Given the description of an element on the screen output the (x, y) to click on. 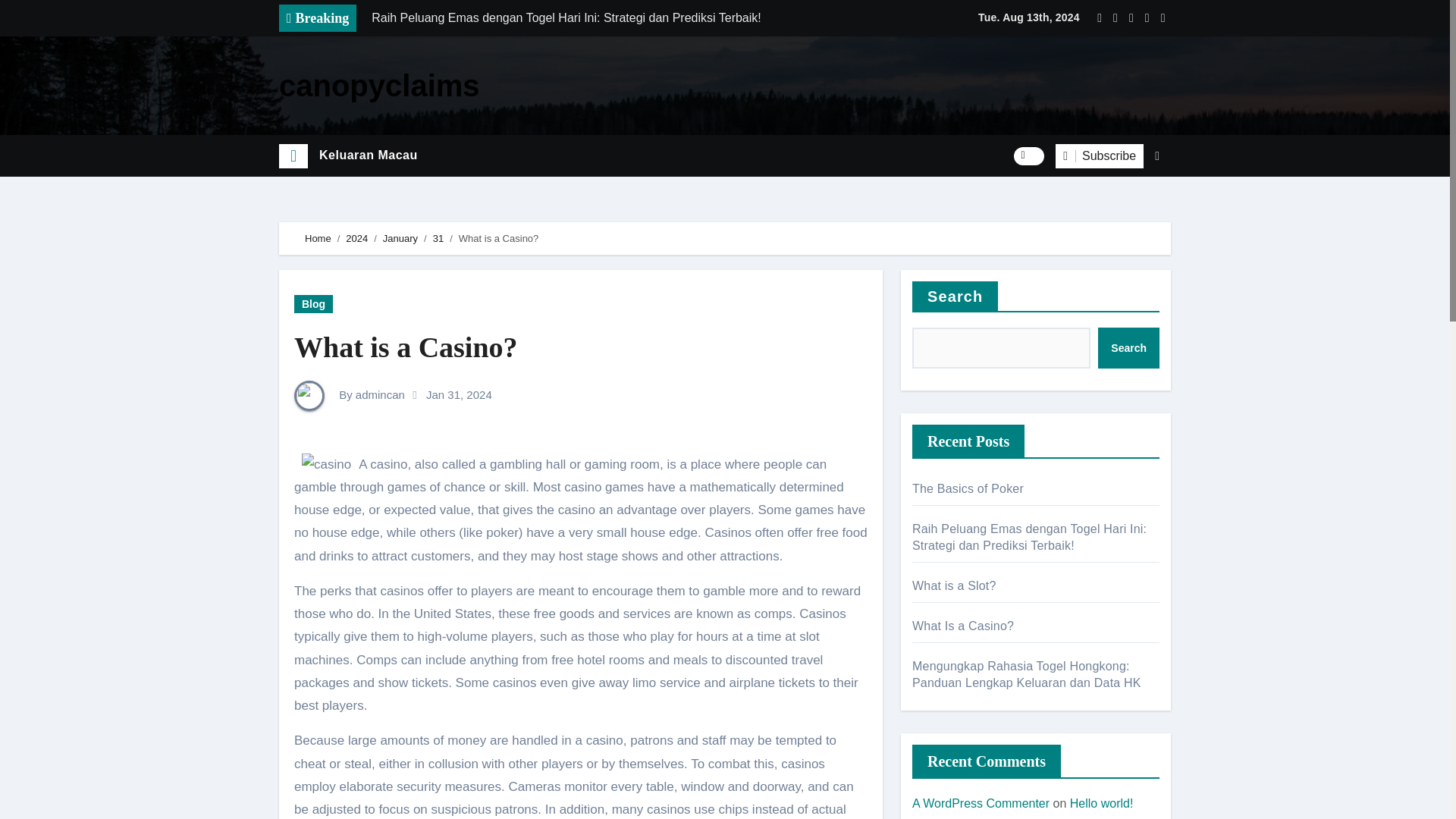
Home (293, 156)
January (399, 238)
2024 (357, 238)
Home (317, 238)
Keluaran Macau (368, 155)
canopyclaims (379, 85)
Blog (313, 303)
Keluaran Macau (368, 155)
31 (438, 238)
